Given the description of an element on the screen output the (x, y) to click on. 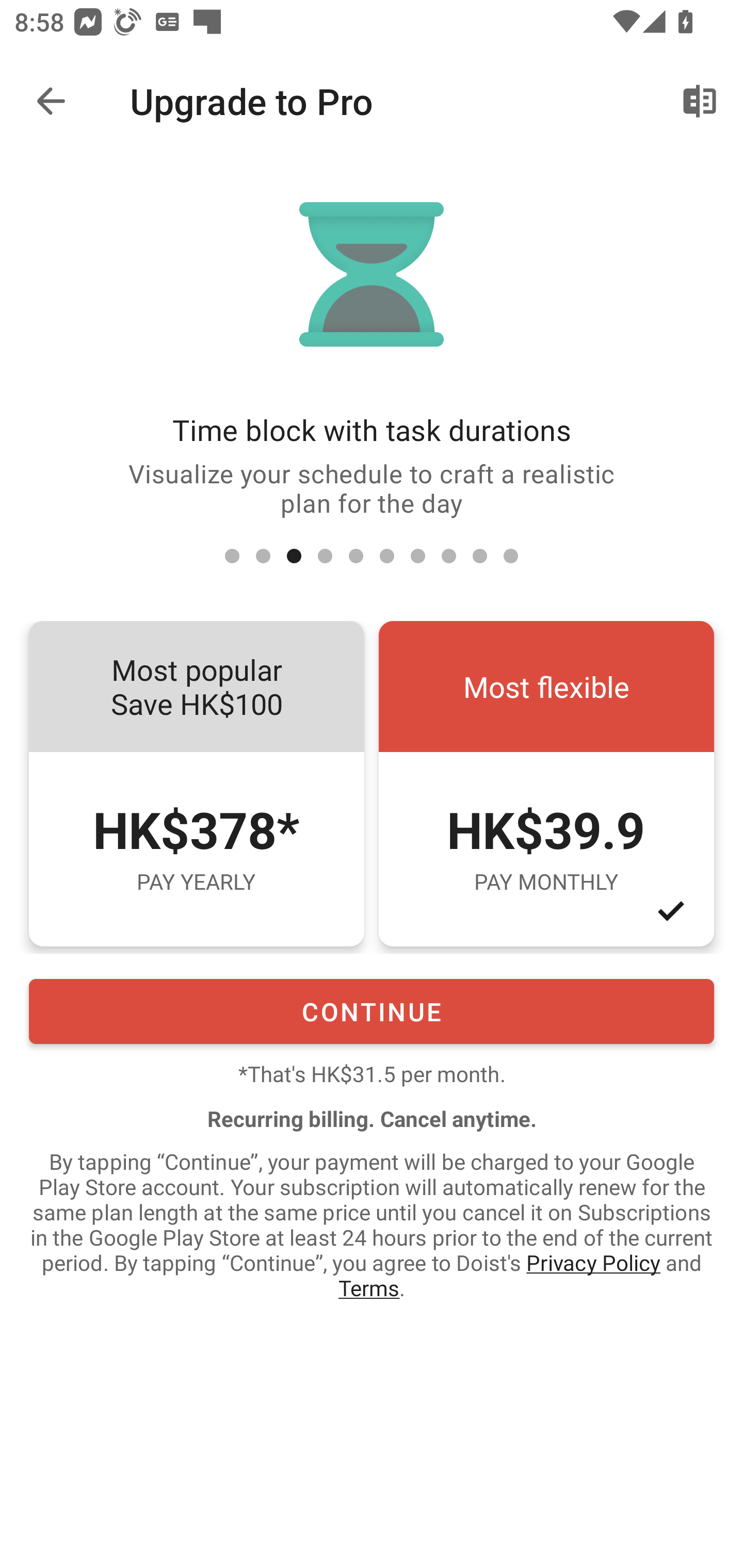
Navigate up (50, 101)
Side by side comparison (699, 101)
Most popular
Save HK$100 HK$378* PAY YEARLY (196, 783)
Most flexible HK$39.9 PAY MONTHLY (546, 783)
CONTINUE (371, 1011)
